Given the description of an element on the screen output the (x, y) to click on. 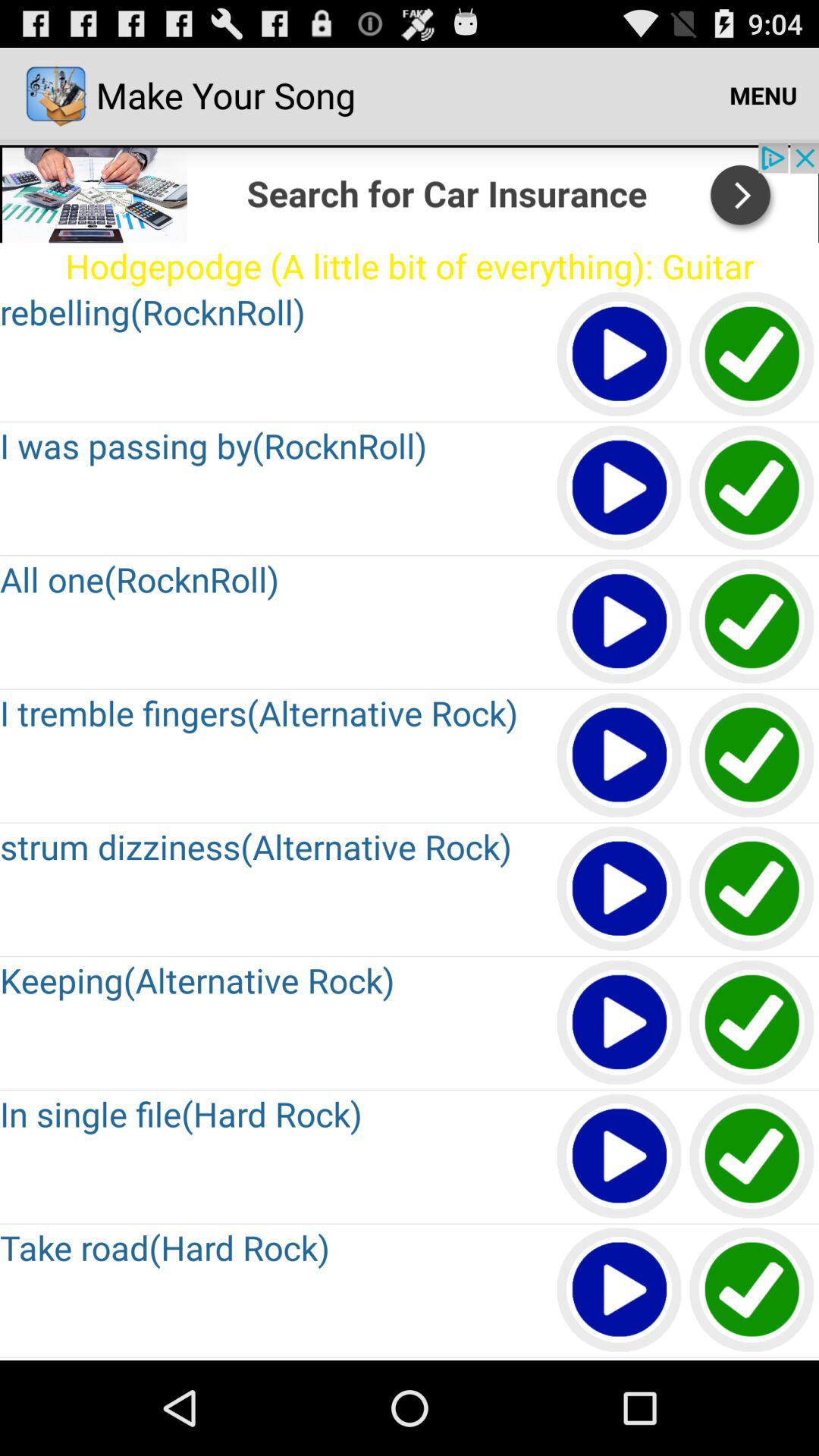
all one rockn roll (752, 622)
